Given the description of an element on the screen output the (x, y) to click on. 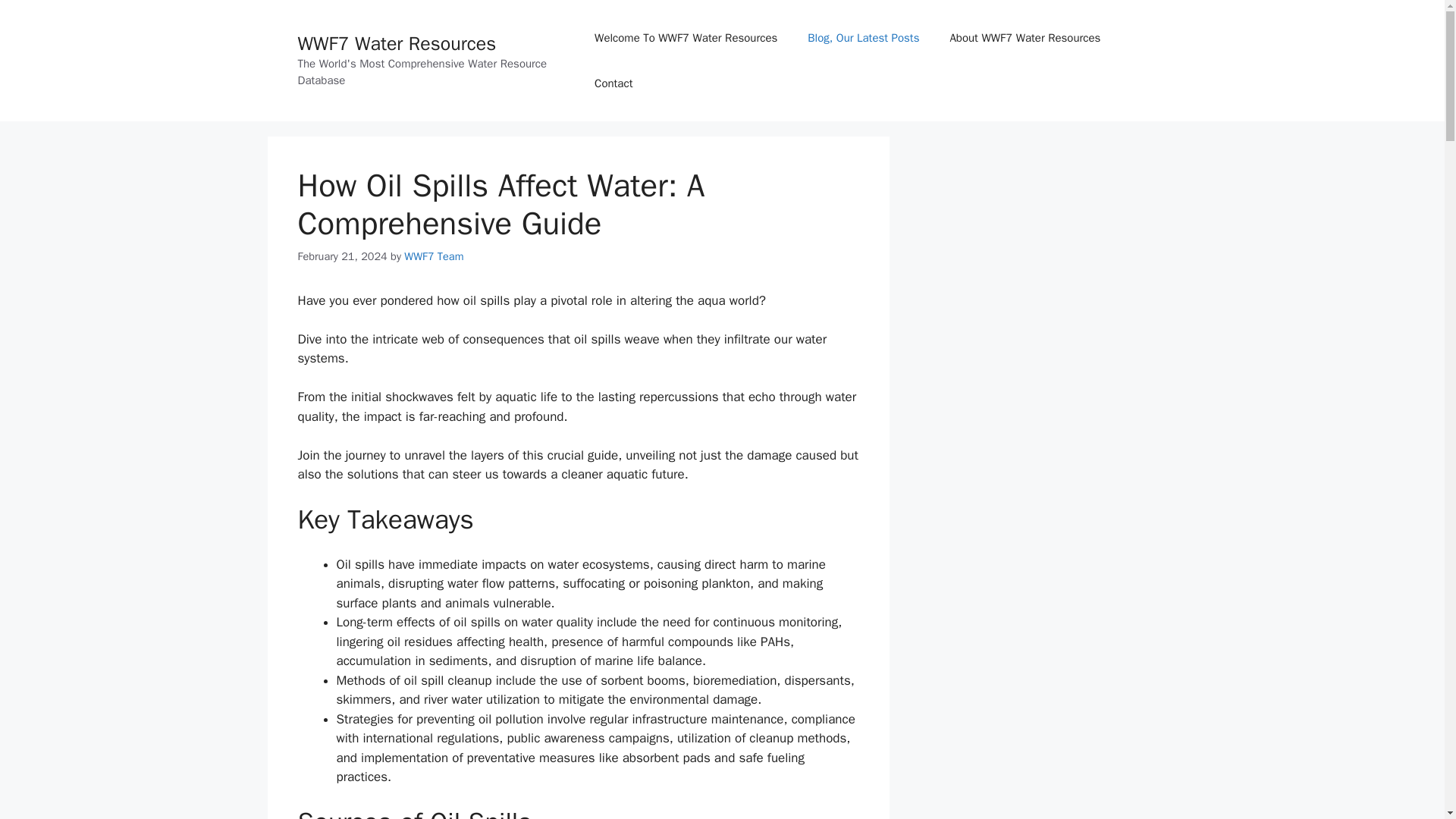
WWF7 Water Resources (396, 43)
About WWF7 Water Resources (1024, 37)
Contact (613, 83)
WWF7 Team (433, 255)
View all posts by WWF7 Team (433, 255)
Welcome To WWF7 Water Resources (685, 37)
Blog, Our Latest Posts (863, 37)
